Given the description of an element on the screen output the (x, y) to click on. 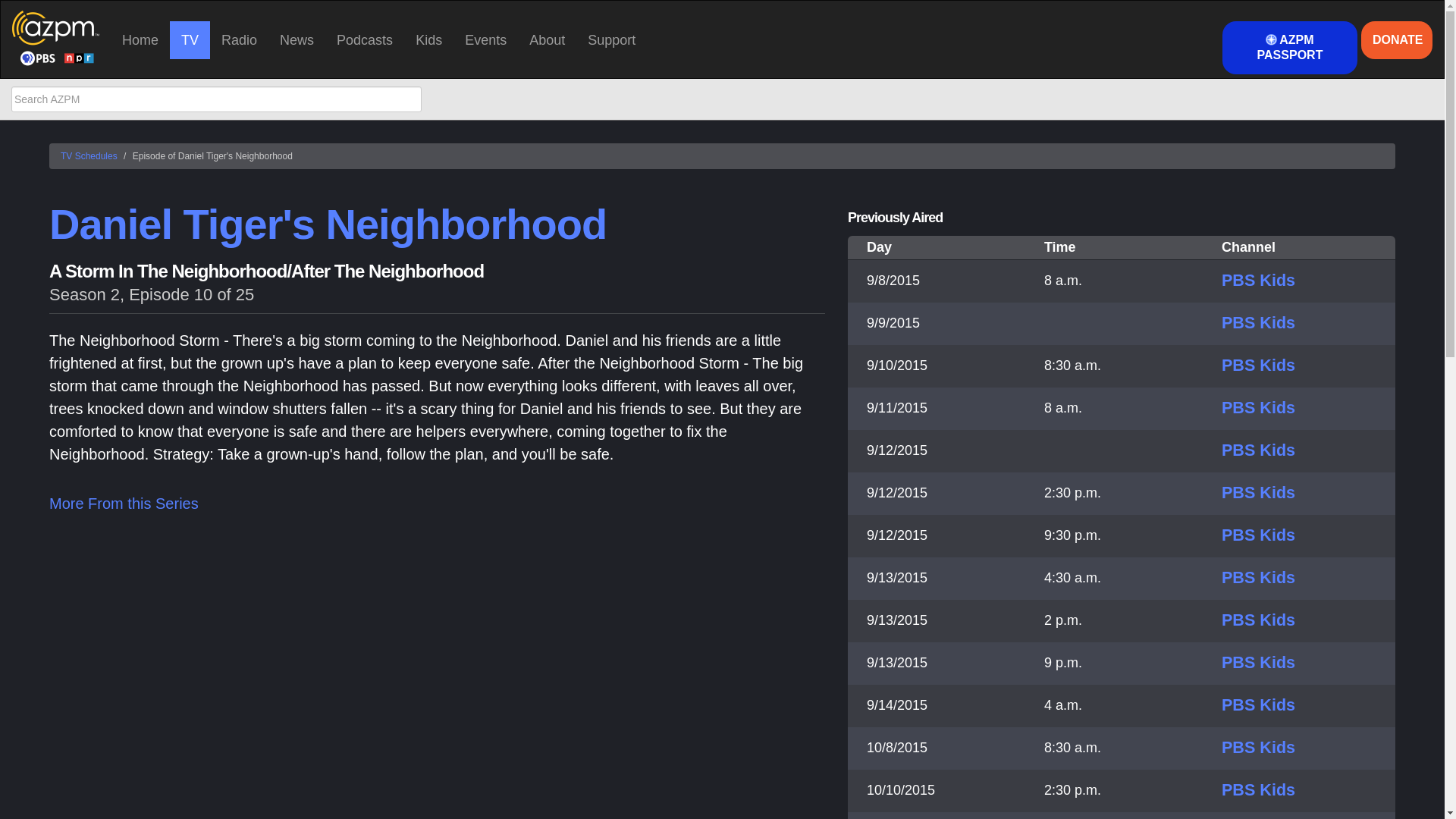
Home (140, 39)
Podcasts (364, 39)
TV (189, 39)
News (295, 39)
About (547, 39)
Radio (238, 39)
Kids (428, 39)
Events (485, 39)
